Given the description of an element on the screen output the (x, y) to click on. 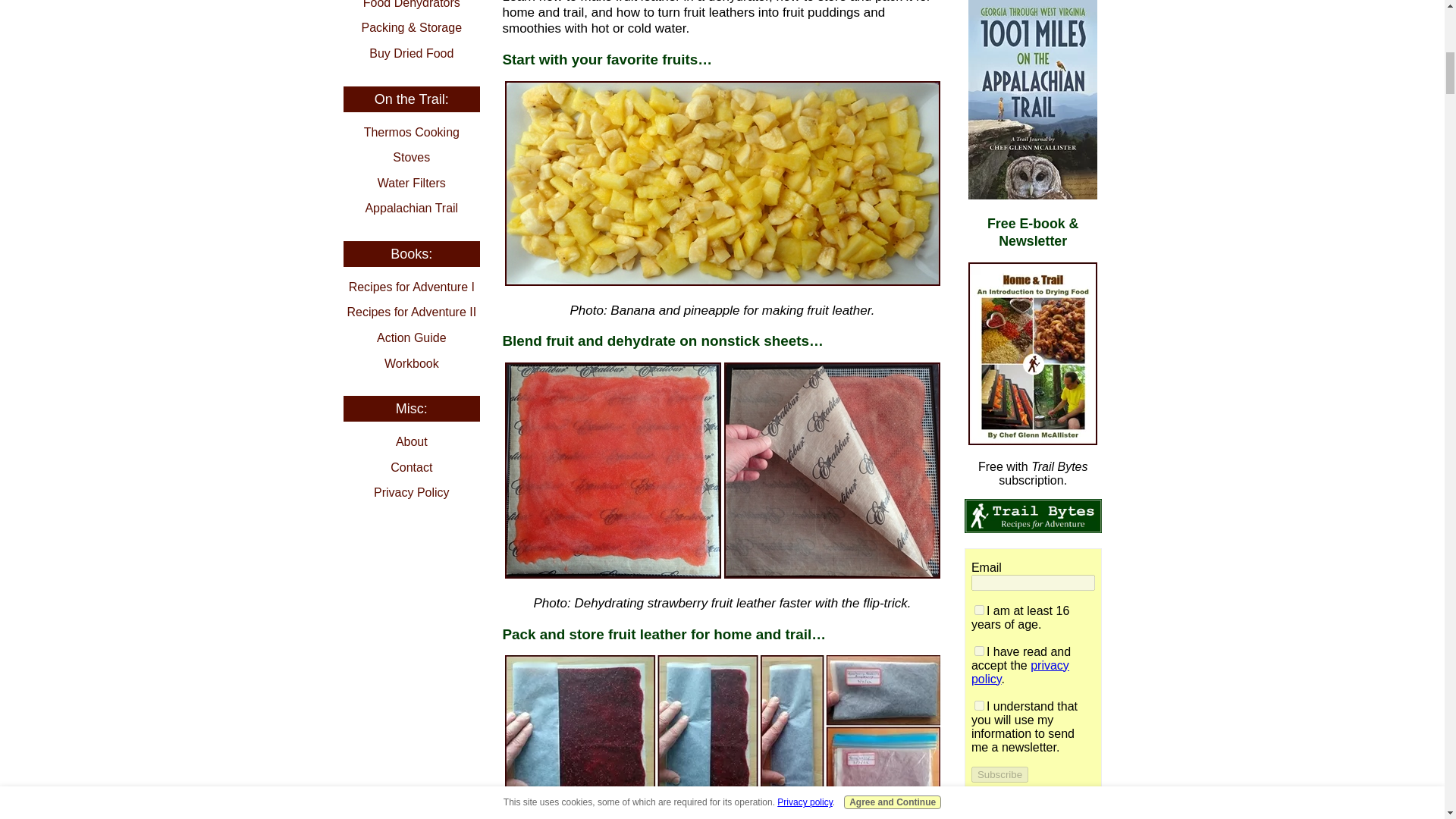
on (979, 610)
Dehydrating strawberry fruit leather. (722, 470)
on (979, 705)
on (979, 651)
Banana-pineapple fruit leather ingredients. (722, 183)
Folding mixed-berry fruit leather in parchment paper. (722, 737)
